Given the description of an element on the screen output the (x, y) to click on. 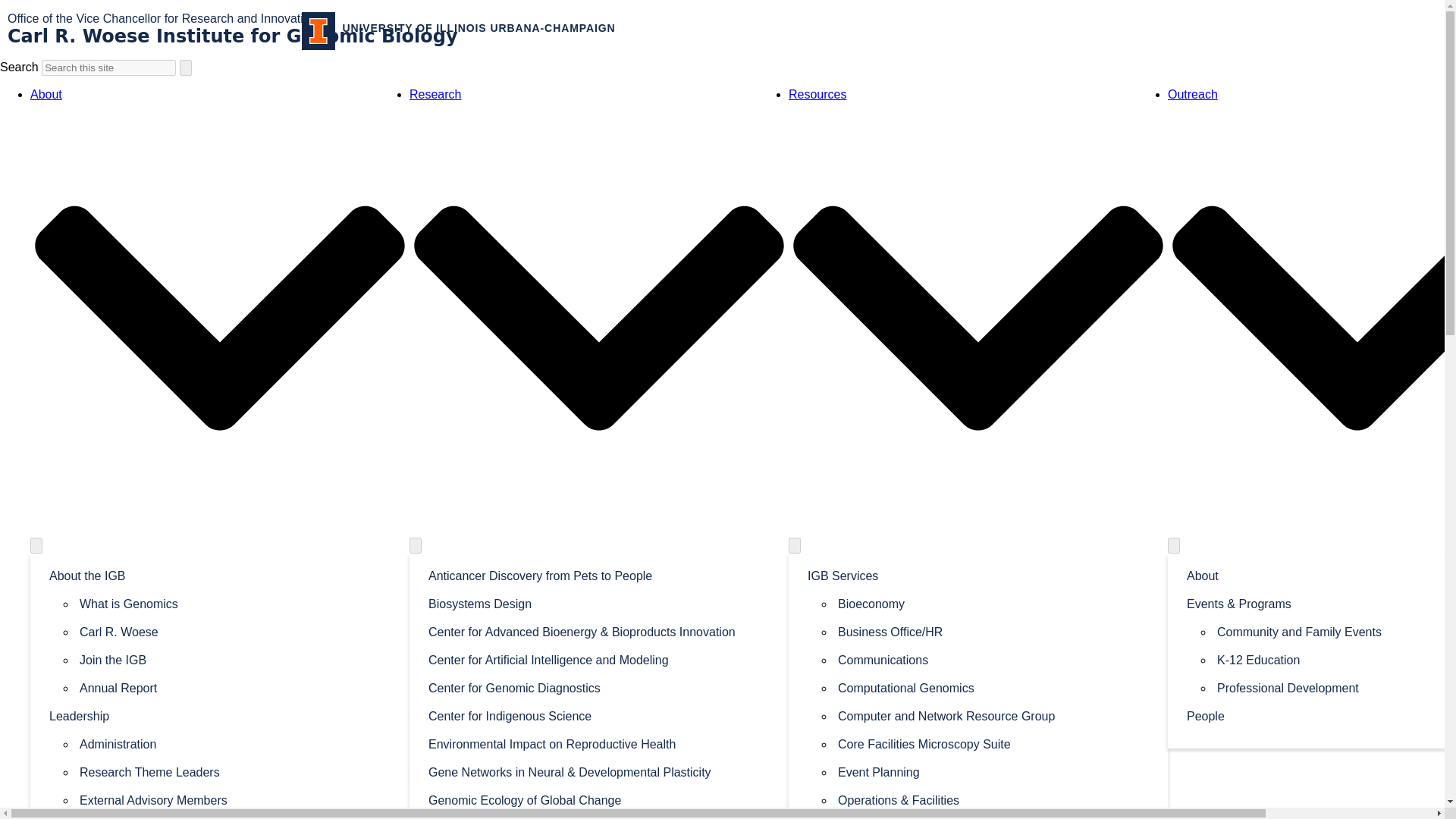
Anticancer Discovery from Pets to People (599, 574)
Administration (234, 743)
What is Genomics (234, 602)
About the IGB (219, 574)
What is Genomics (234, 602)
Videos (234, 687)
Anticancer Discovery from Pets to People (599, 574)
External Advisory Members (234, 799)
Carl R. Woese Institute for Genomic Biology (232, 35)
Join the IGB (234, 659)
Carl R. Woese (234, 631)
Annual Report (234, 687)
Center for Indigenous Science (599, 715)
Genomic Security and Privacy (599, 816)
